Given the description of an element on the screen output the (x, y) to click on. 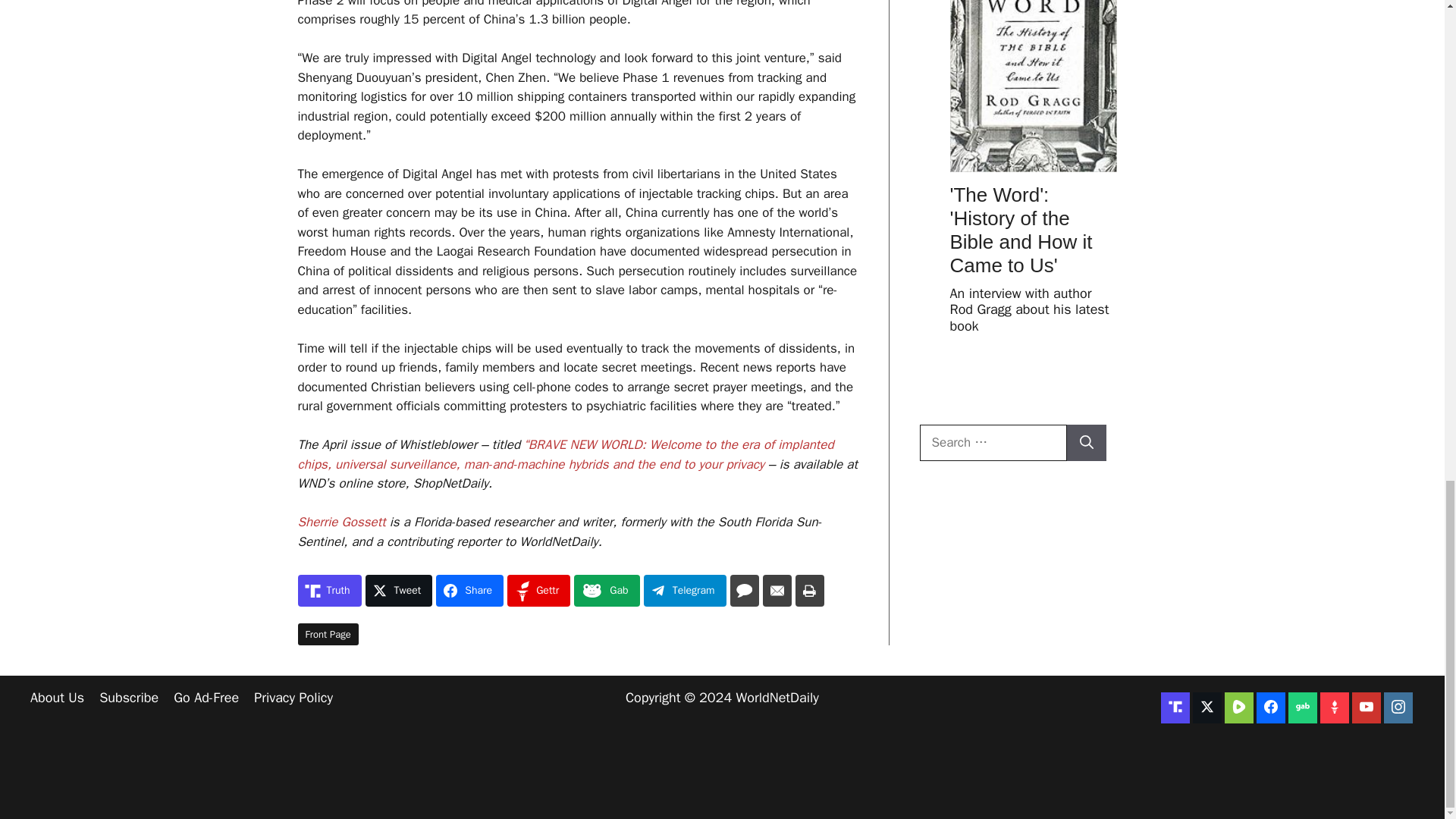
Share on Gettr (538, 590)
Share on Tweet (398, 590)
Share on Truth (329, 590)
Share on Share (469, 590)
Share on Gab (606, 590)
